Given the description of an element on the screen output the (x, y) to click on. 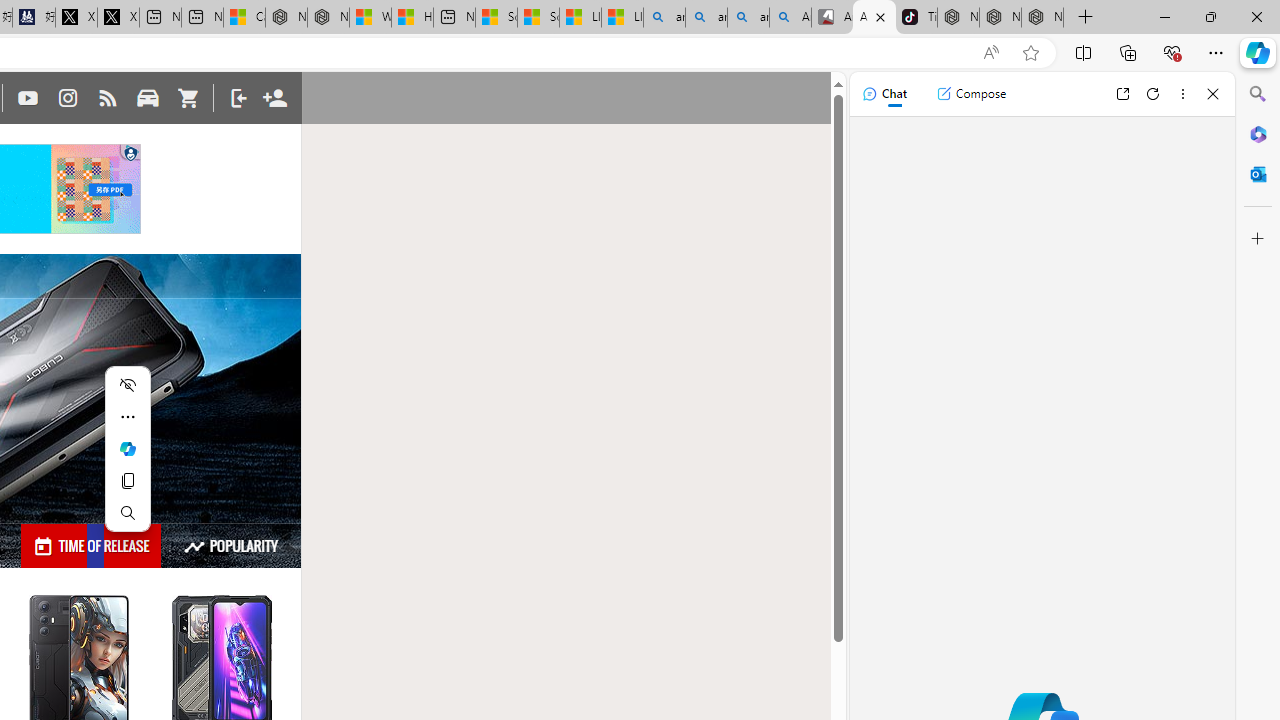
Nordace Siena Pro 15 Backpack (1000, 17)
Outlook (1258, 174)
Copy (127, 480)
Mini menu on text selection (127, 449)
amazon - Search Images (748, 17)
Mini menu on text selection (127, 460)
Class: qc-adchoices-link top-right  (130, 151)
Open link in new tab (1122, 93)
